Given the description of an element on the screen output the (x, y) to click on. 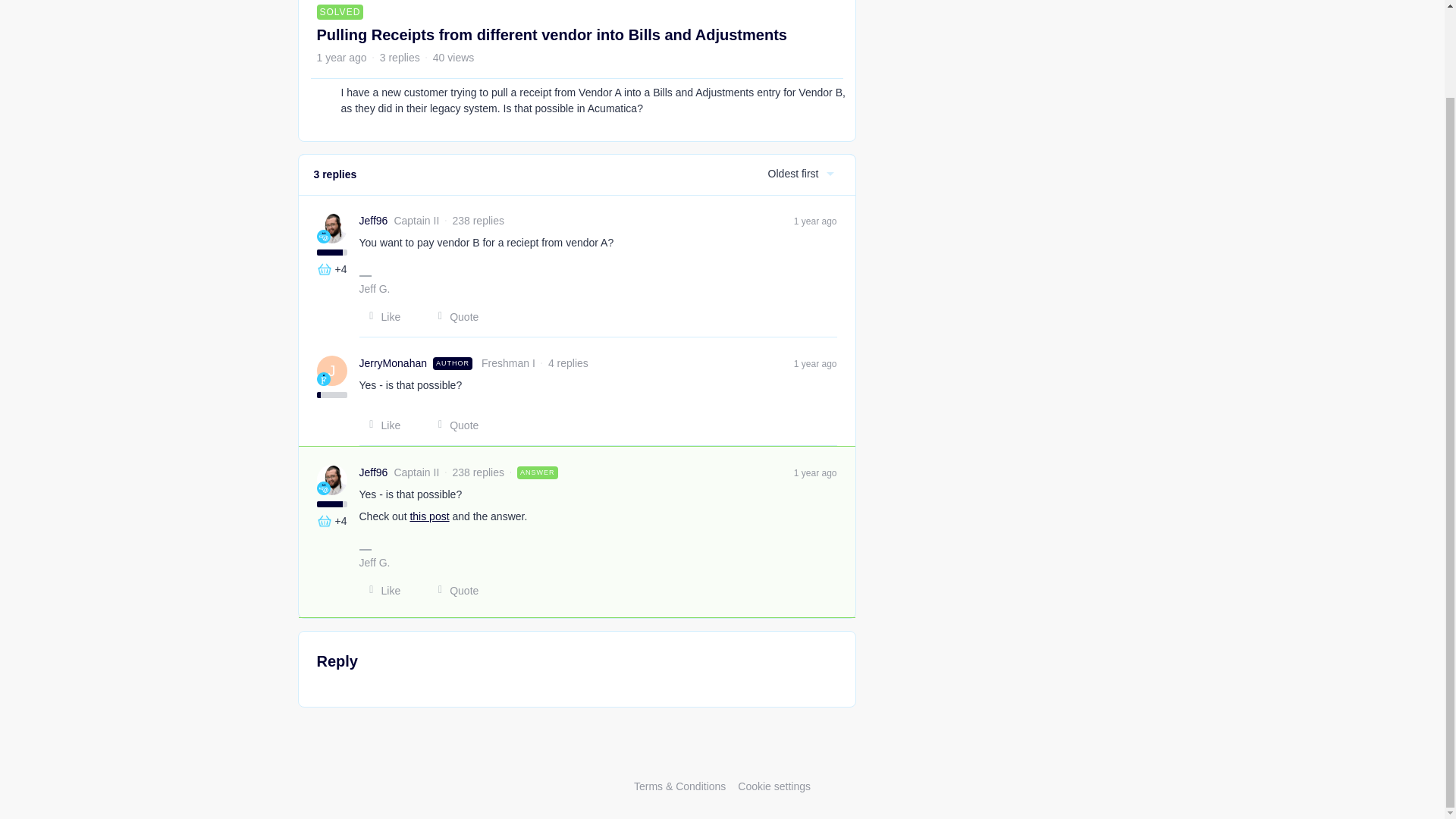
Retail-Commerce expert (324, 520)
Jeff96 (373, 472)
JerryMonahan (393, 363)
Freshman I (323, 378)
Captain II (323, 488)
Captain II (323, 236)
Visit Gainsight.com (722, 754)
Retail-Commerce expert (324, 268)
Jeff96 (373, 220)
